Given the description of an element on the screen output the (x, y) to click on. 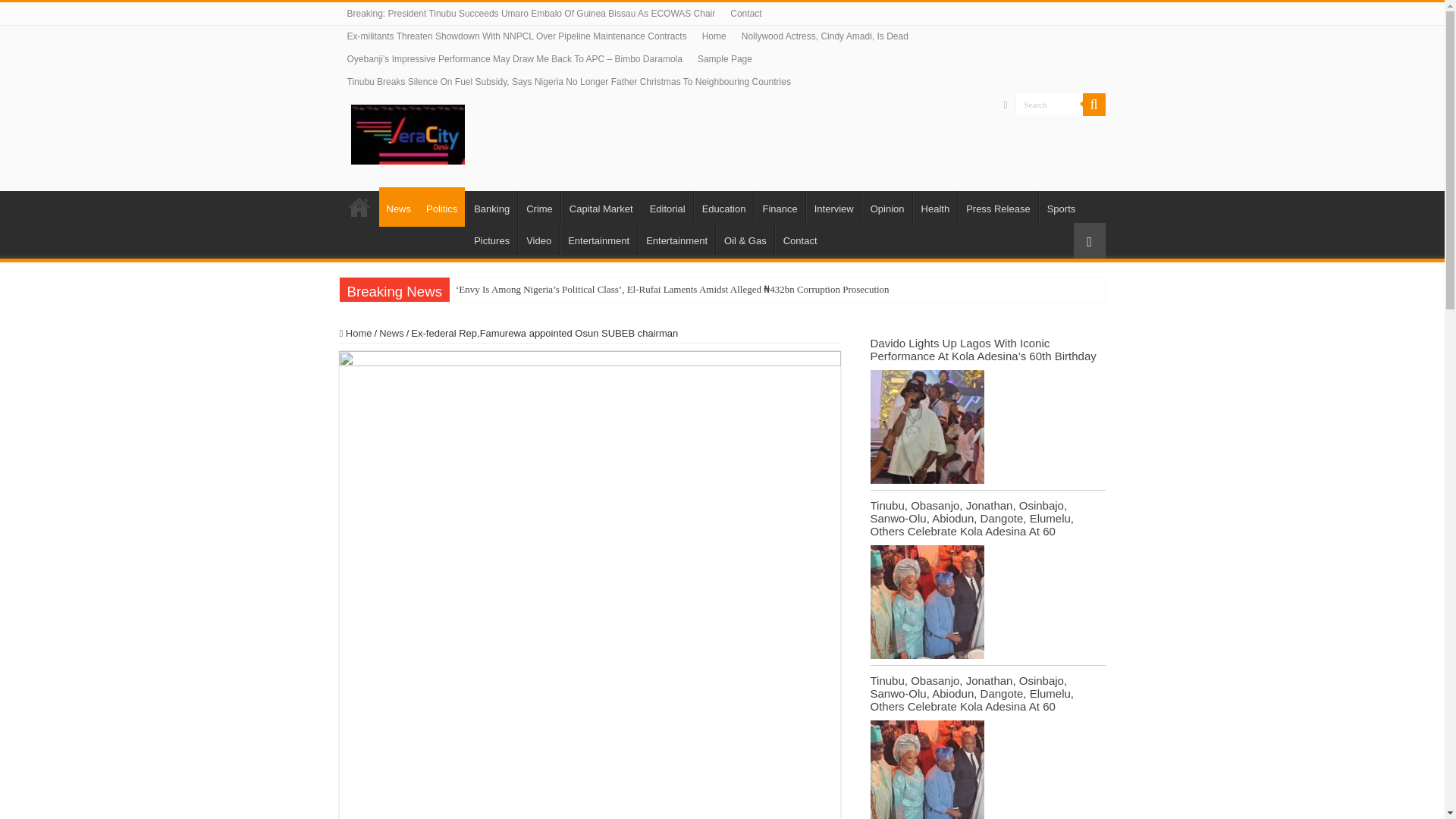
Search (1094, 104)
Nollywood Actress, Cindy Amadi, Is Dead (824, 36)
Search (1048, 104)
Search (1048, 104)
Search (1048, 104)
Sample Page (725, 58)
Crime (539, 206)
Contact (745, 13)
News (398, 206)
Capital Market (600, 206)
